Given the description of an element on the screen output the (x, y) to click on. 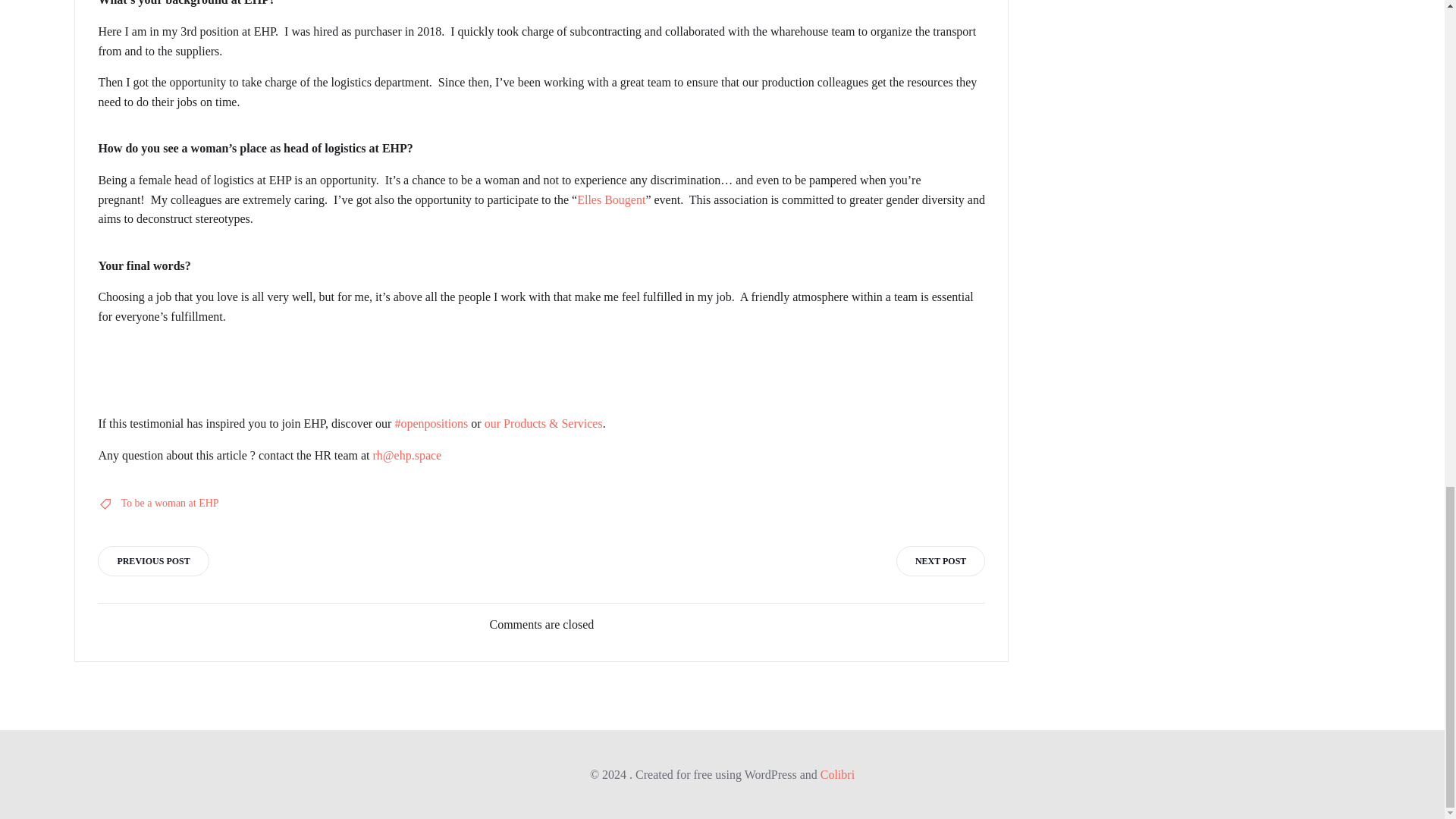
Elles Bougent (610, 199)
PREVIOUS POST (152, 561)
To be a woman at EHP (169, 503)
To be a woman at EHP Tag (169, 503)
